Given the description of an element on the screen output the (x, y) to click on. 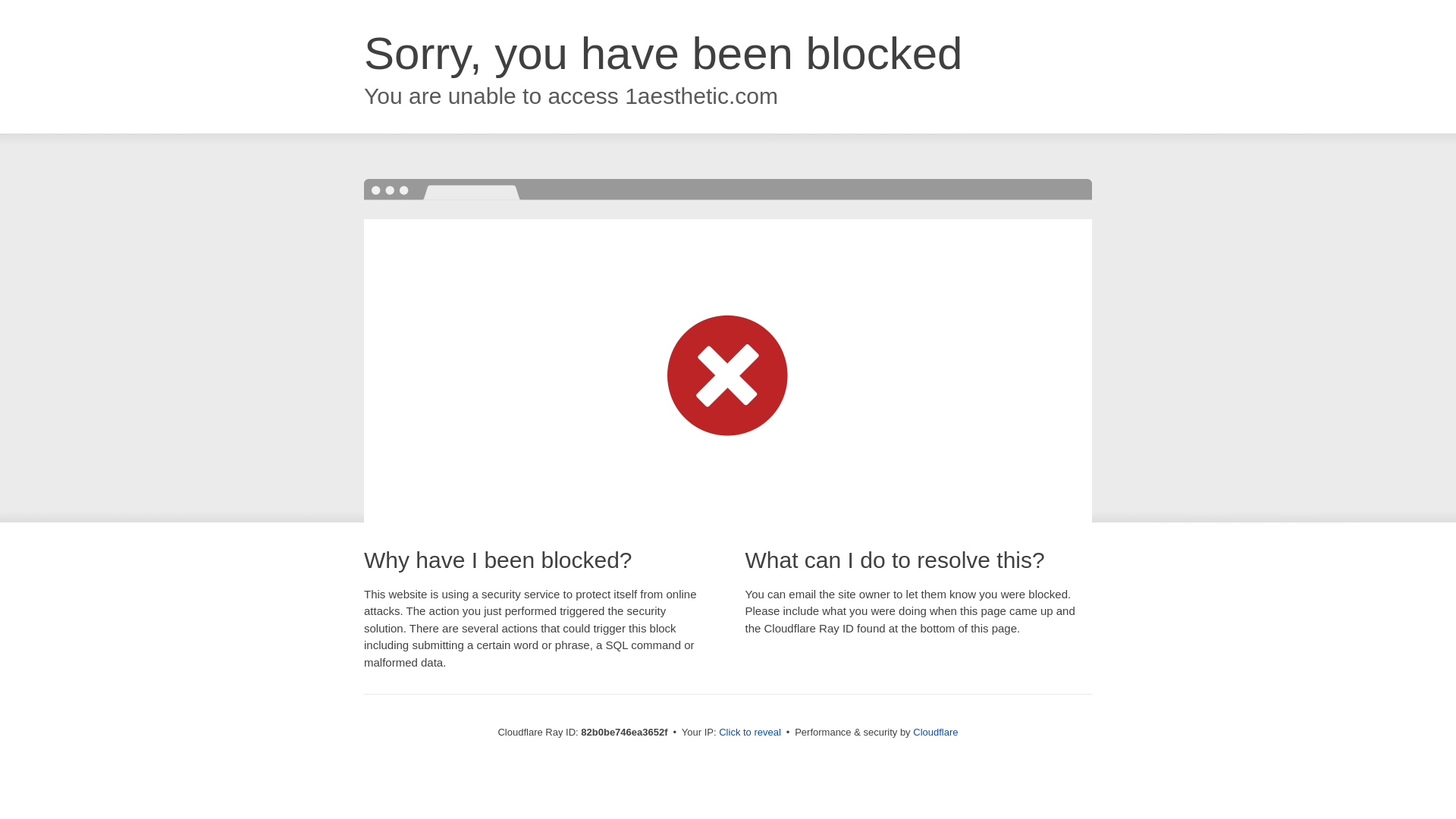
Cloudflare Element type: text (935, 731)
Click to reveal Element type: text (749, 732)
